Given the description of an element on the screen output the (x, y) to click on. 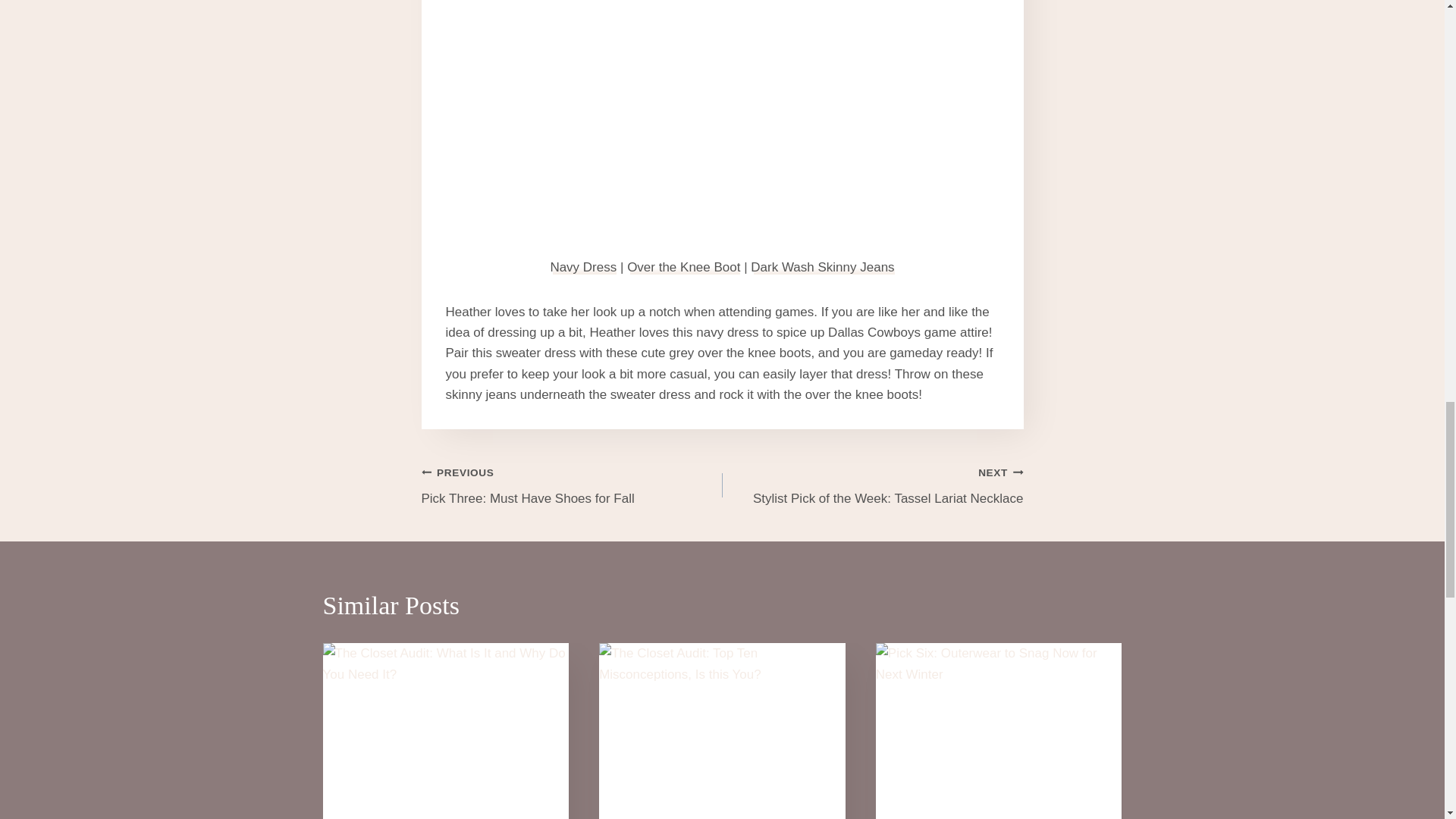
Over the Knee Boot (683, 267)
Navy Dress (582, 267)
Dark Wash Skinny Jeans (822, 267)
